Given the description of an element on the screen output the (x, y) to click on. 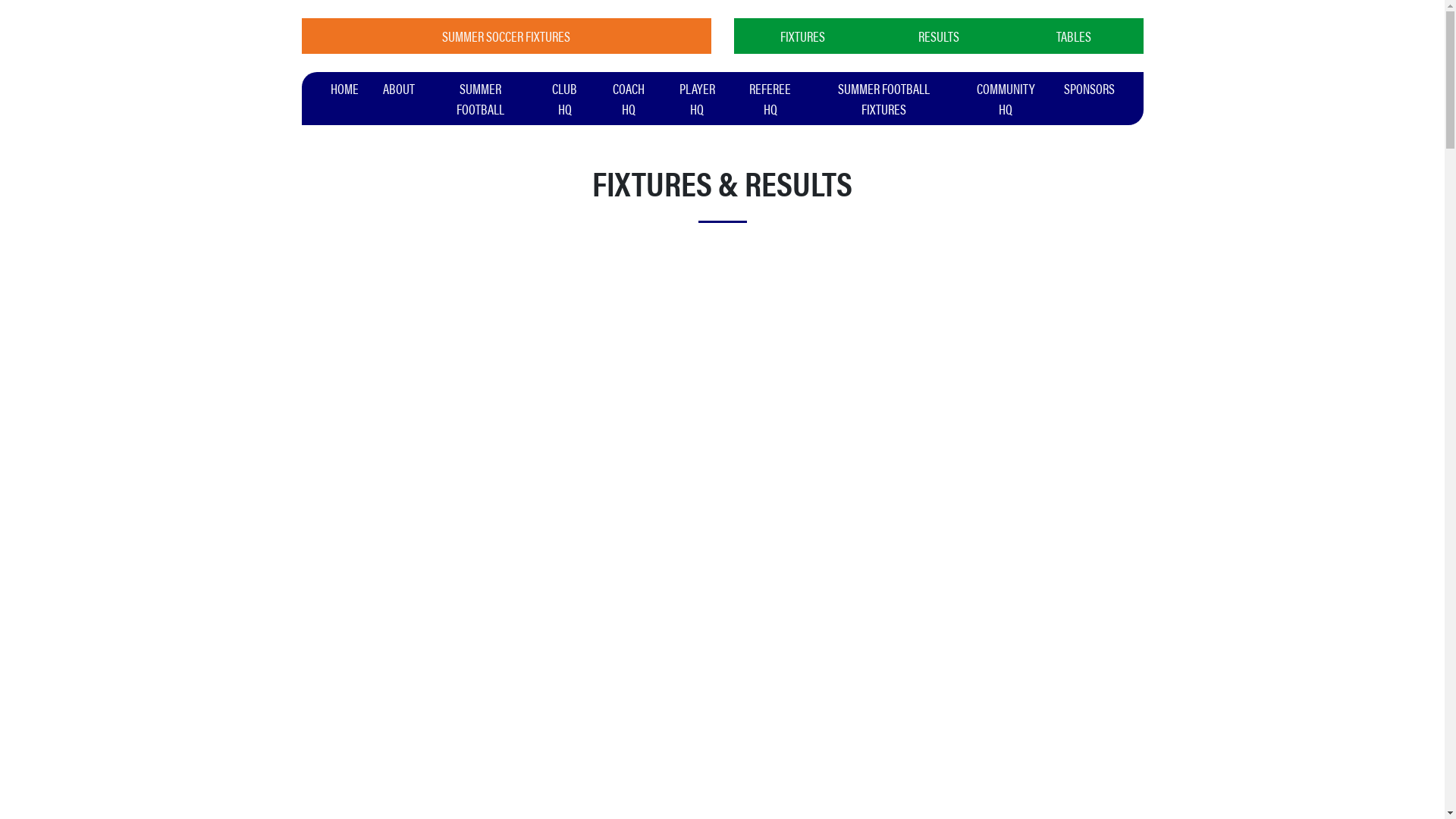
COACH HQ Element type: text (628, 98)
CLUB HQ Element type: text (564, 98)
SUMMER FOOTBALL FIXTURES Element type: text (884, 98)
SPONSORS Element type: text (1088, 88)
TABLES Element type: text (1074, 35)
RESULTS Element type: text (938, 35)
PLAYER HQ Element type: text (697, 98)
COMMUNITY HQ Element type: text (1005, 98)
ABOUT Element type: text (398, 88)
REFEREE HQ Element type: text (770, 98)
FIXTURES Element type: text (803, 35)
SUMMER SOCCER FIXTURES Element type: text (506, 35)
HOME Element type: text (344, 88)
SUMMER FOOTBALL Element type: text (479, 98)
